Given the description of an element on the screen output the (x, y) to click on. 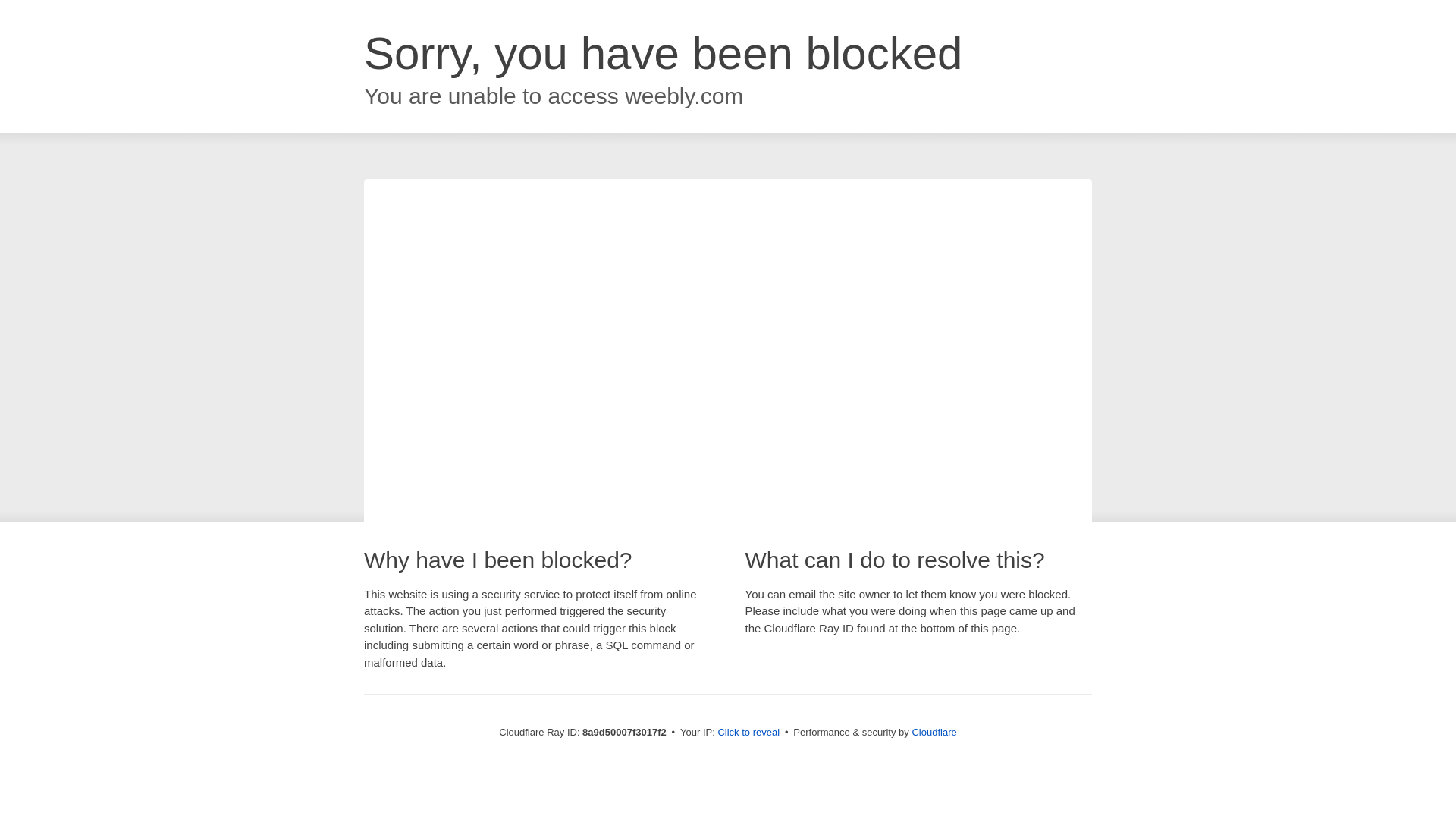
Cloudflare (933, 731)
Click to reveal (747, 732)
